Given the description of an element on the screen output the (x, y) to click on. 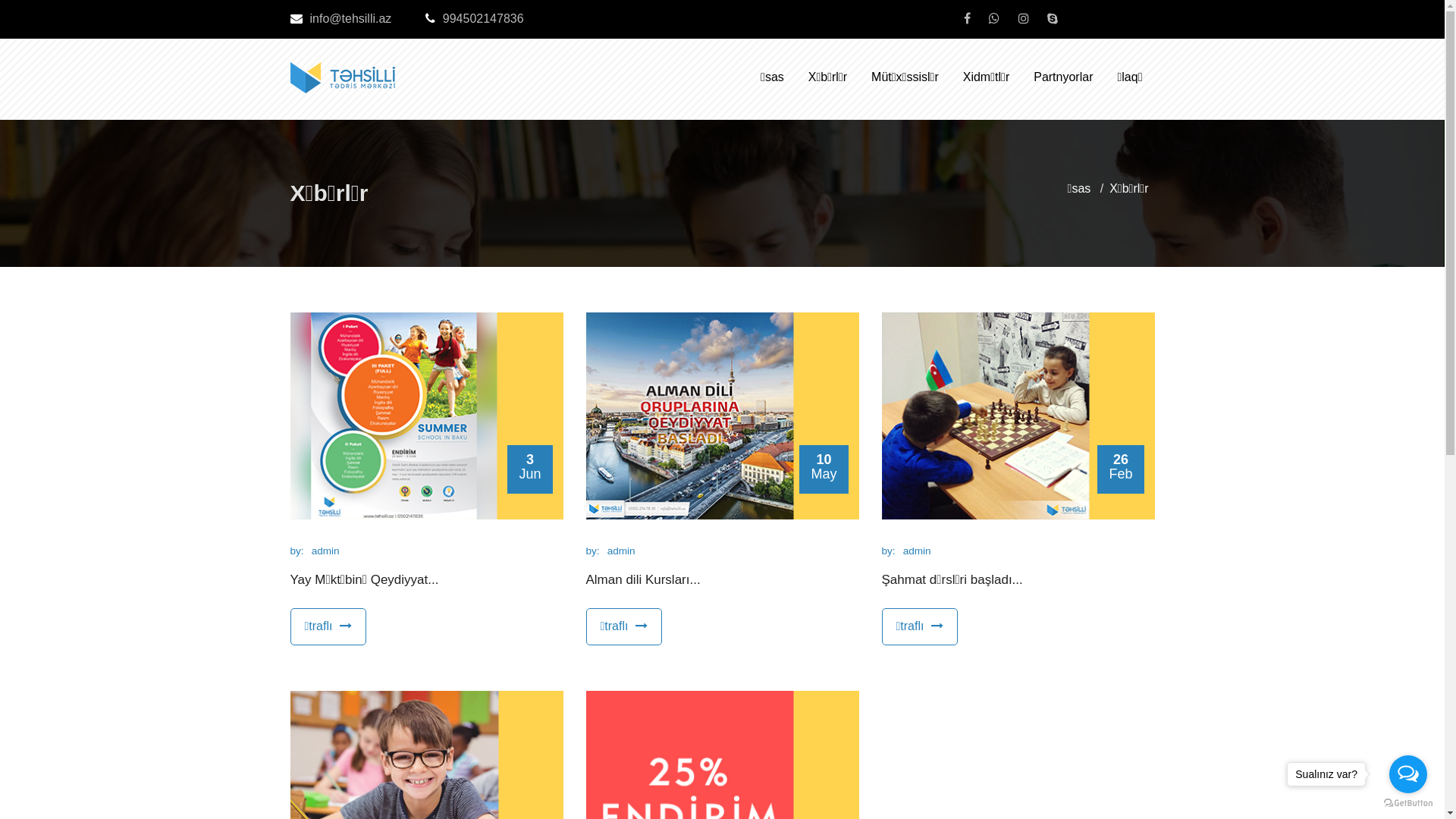
admin Element type: text (621, 550)
admin Element type: text (325, 550)
994502147836 Element type: text (474, 18)
Tehsilli.az Element type: hover (343, 65)
admin Element type: text (917, 550)
Partnyorlar Element type: text (1062, 71)
info@tehsilli.az Element type: text (340, 18)
